Given the description of an element on the screen output the (x, y) to click on. 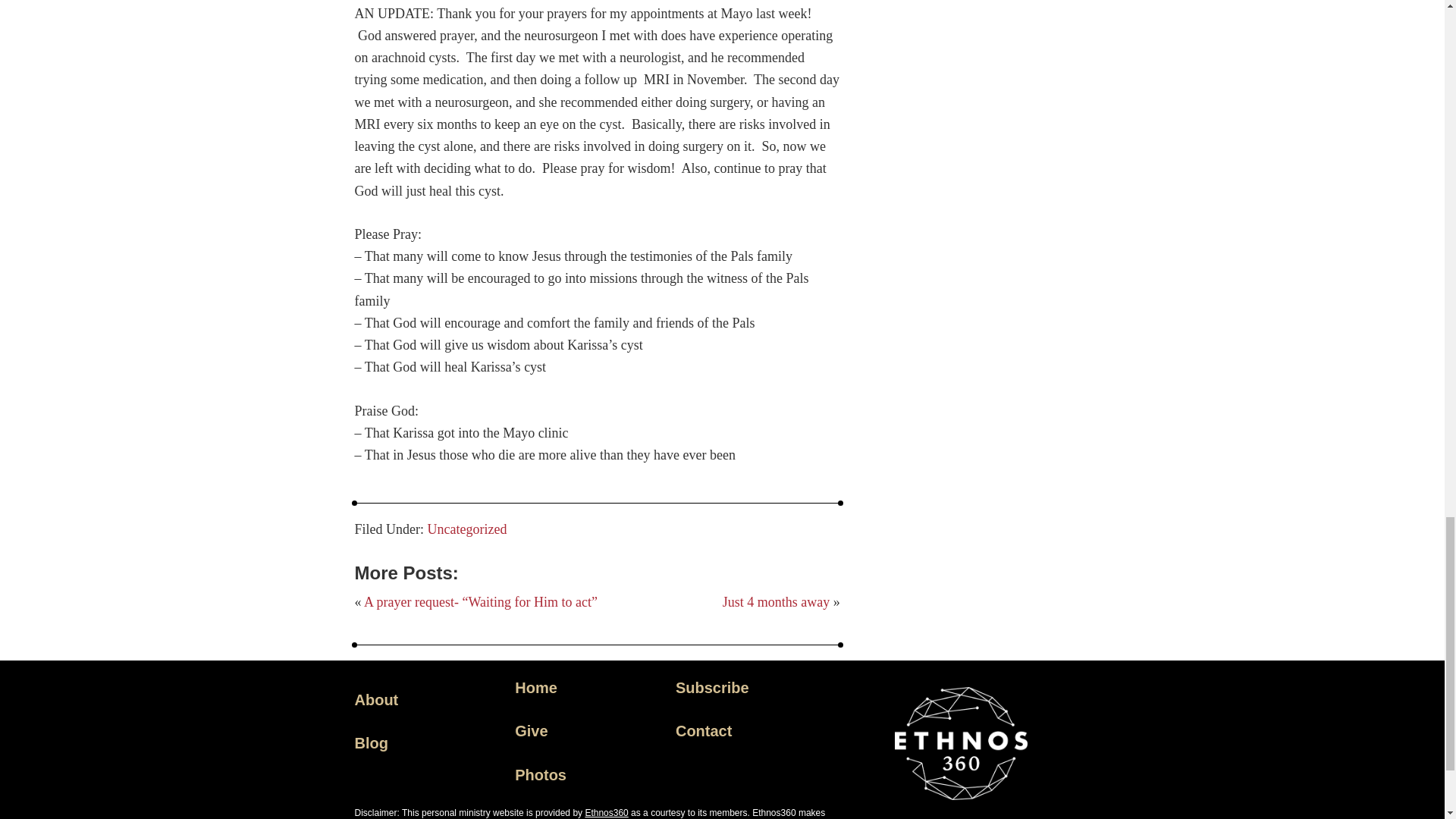
Ethnos360 (606, 812)
Give (531, 730)
Home (536, 687)
Just 4 months away (775, 601)
Uncategorized (467, 529)
About (376, 699)
Ethnos360.org (606, 812)
Contact (703, 730)
Subscribe (712, 687)
Blog (371, 742)
Photos (540, 774)
